Given the description of an element on the screen output the (x, y) to click on. 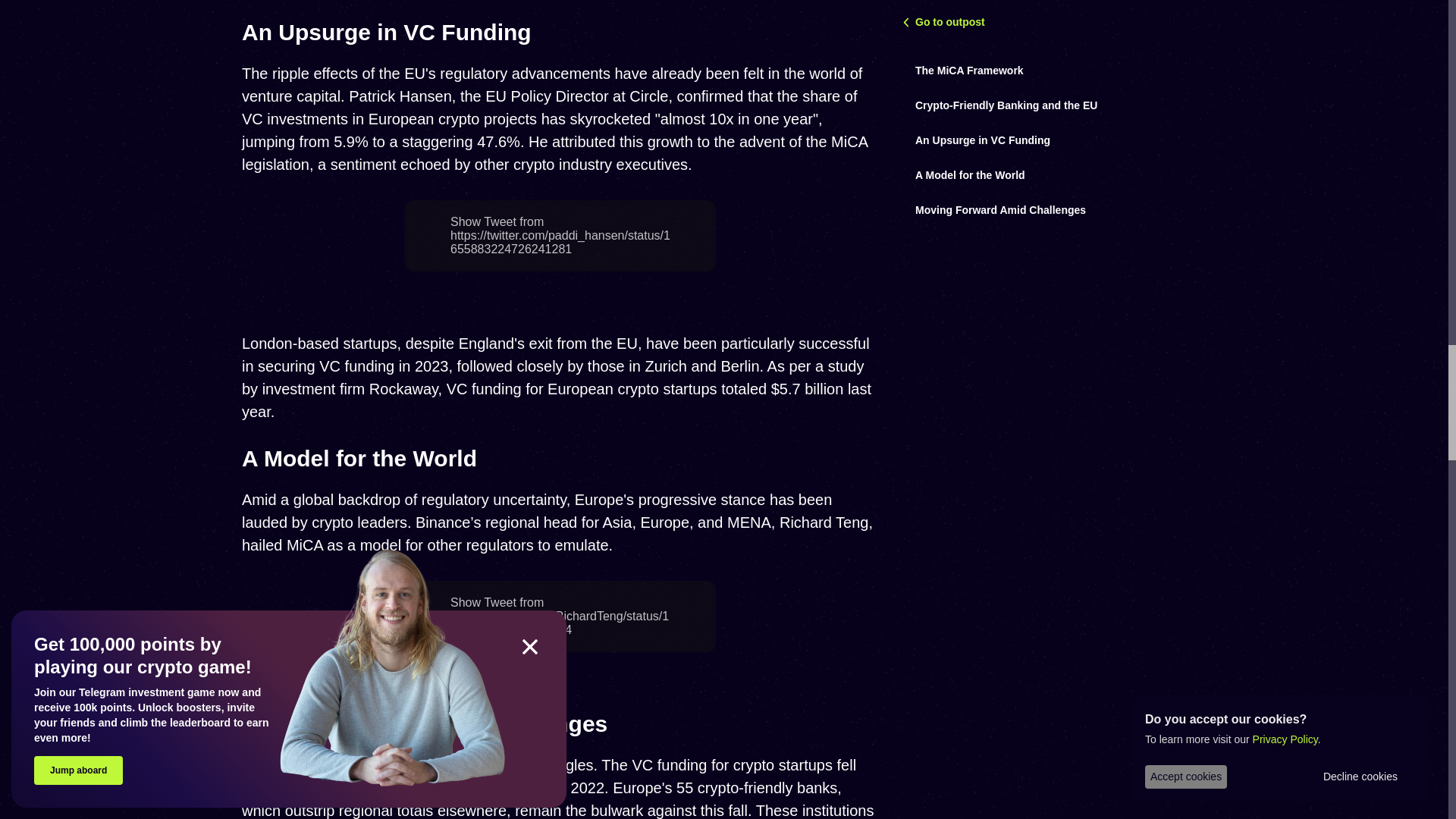
A Model for the World (359, 457)
Moving Forward Amid Challenges (424, 723)
An Upsurge in VC Funding (386, 32)
